Given the description of an element on the screen output the (x, y) to click on. 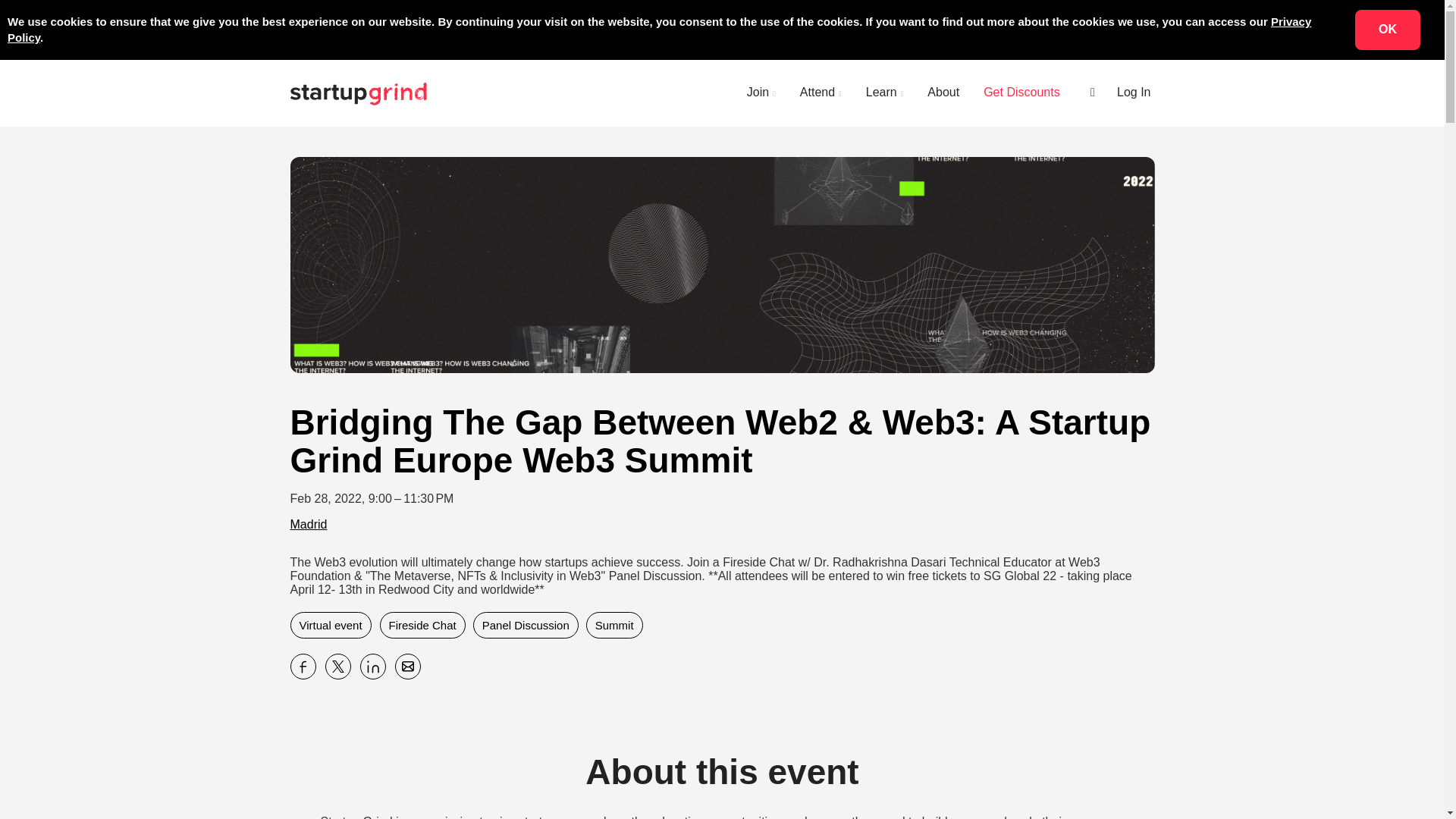
Learn (884, 92)
OK (1388, 29)
Madrid (307, 523)
Virtual event (330, 624)
Privacy Policy (659, 29)
Fireside Chat (421, 624)
Summit (614, 624)
Get Discounts (1020, 92)
Attend (820, 92)
Panel Discussion (525, 624)
